Given the description of an element on the screen output the (x, y) to click on. 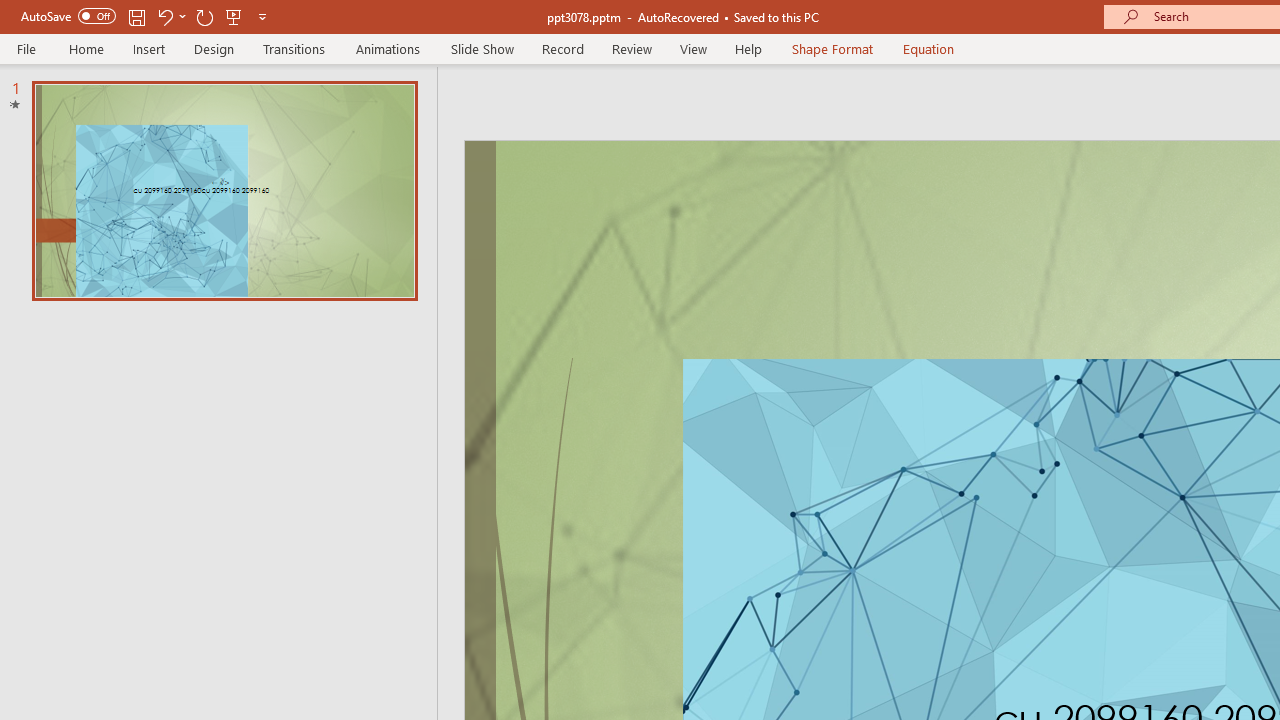
Equation (928, 48)
